Given the description of an element on the screen output the (x, y) to click on. 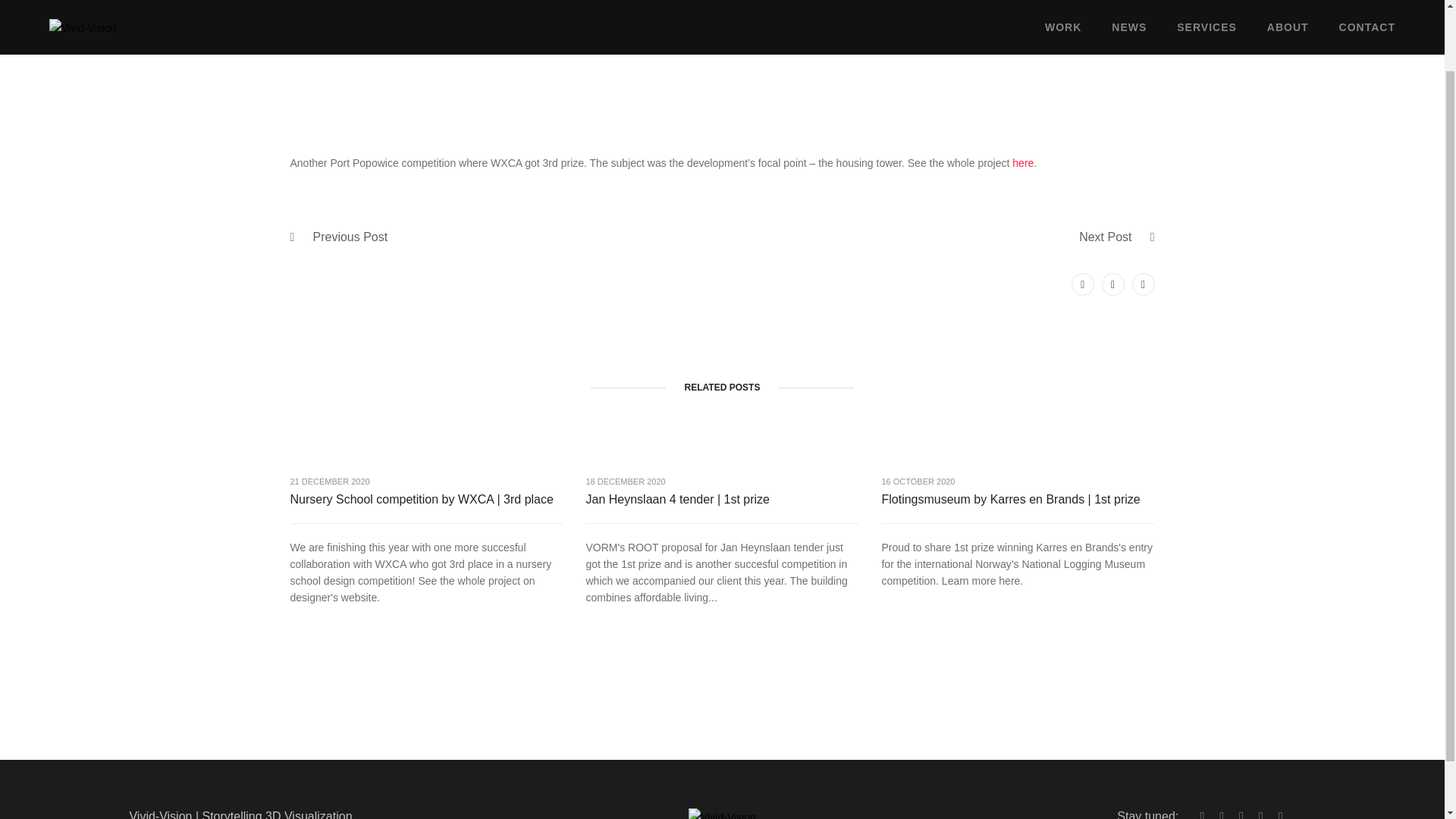
here (1022, 162)
Previous Post (350, 236)
Next Post (1104, 236)
